Given the description of an element on the screen output the (x, y) to click on. 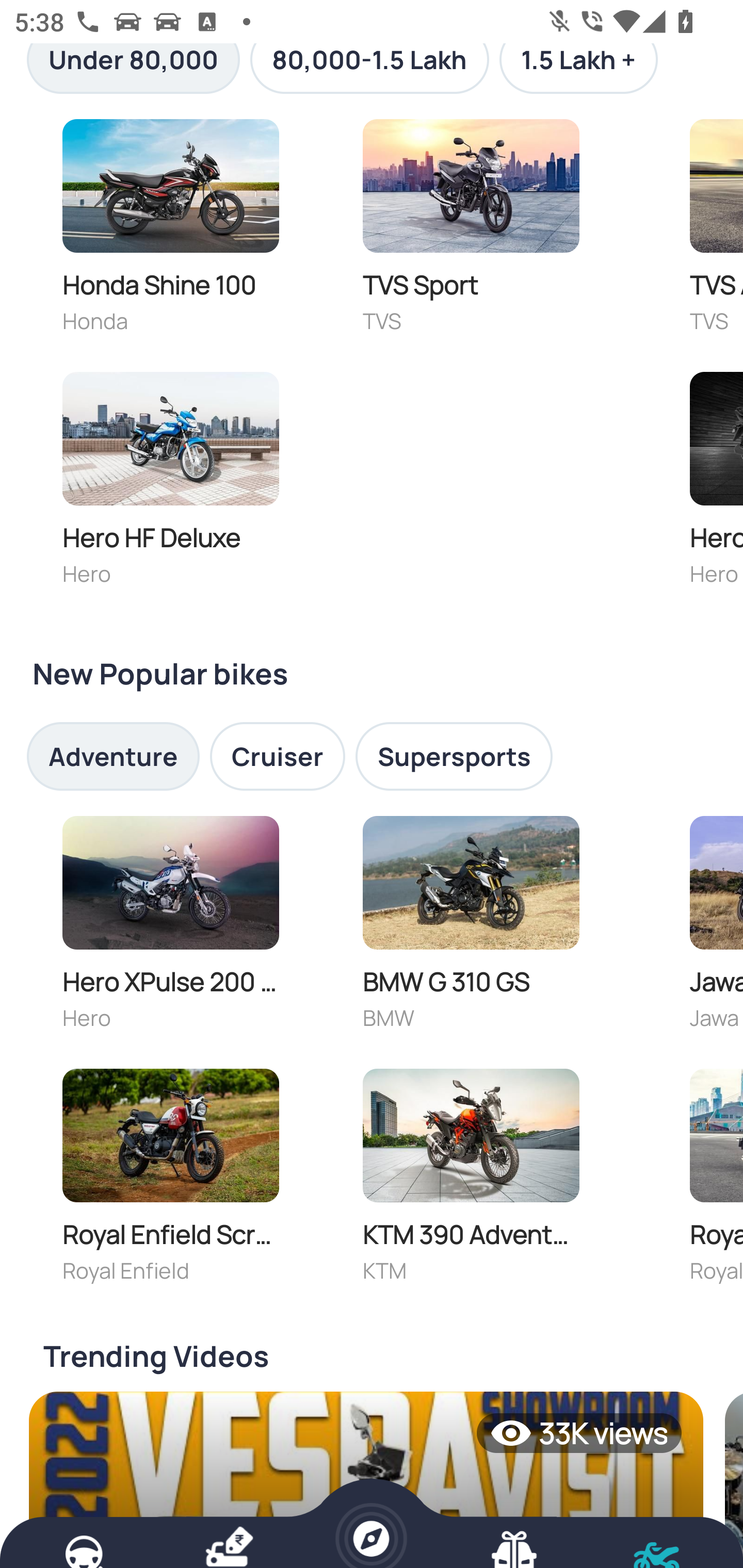
80,000-1.5 Lakh (369, 68)
1.5 Lakh + (578, 68)
Honda Shine 100 Honda (170, 231)
TVS Sport TVS (470, 231)
Hero HF Deluxe Hero (170, 483)
Cruiser (277, 756)
Supersports (453, 756)
Hero XPulse 200 4V Hero (170, 927)
BMW G 310 GS BMW (470, 927)
Royal Enfield Scram 411 Royal Enfield (170, 1180)
KTM 390 Adventure KTM (470, 1180)
